Given the description of an element on the screen output the (x, y) to click on. 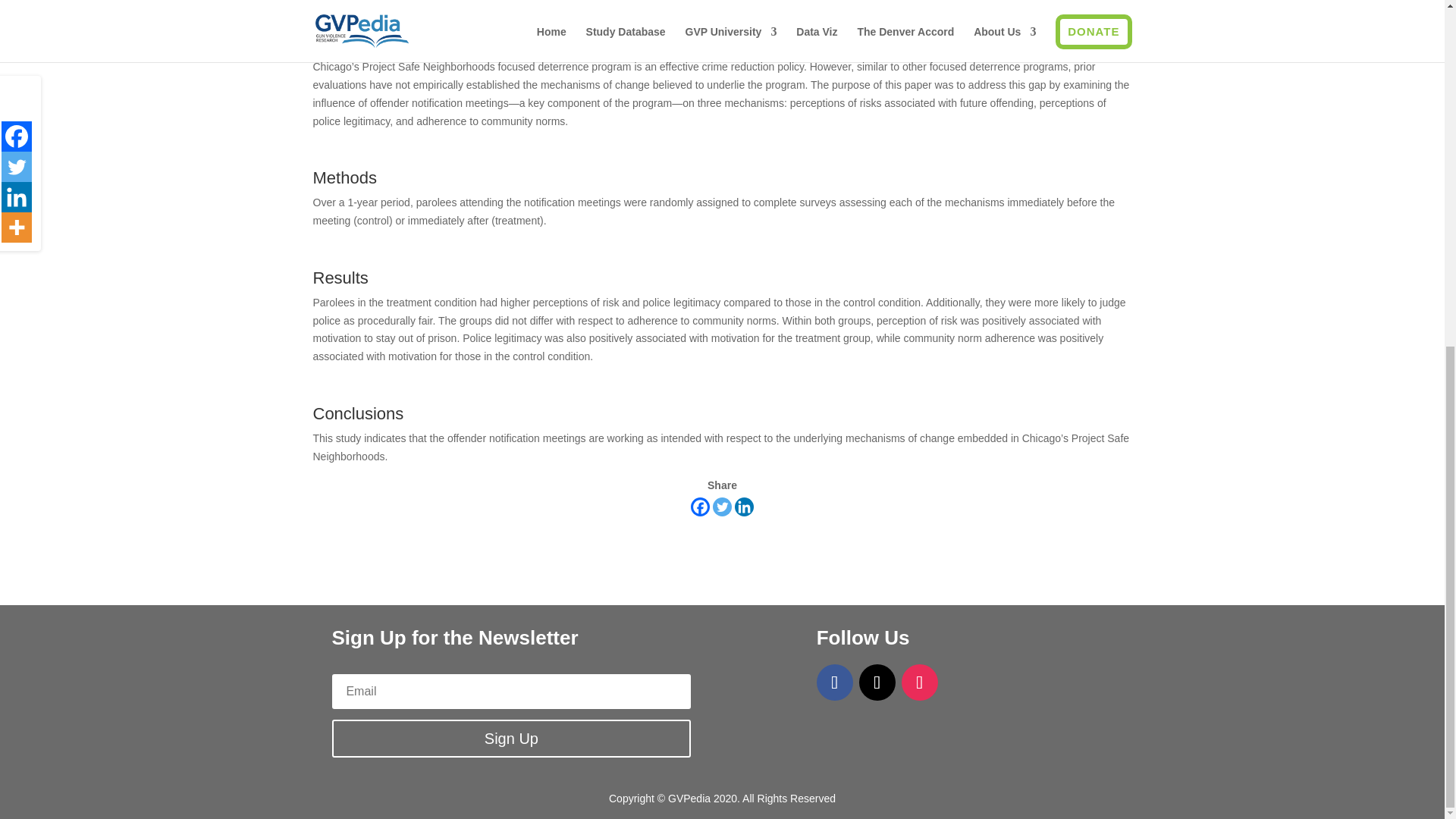
Sign Up (511, 738)
Follow on Instagram (919, 682)
Follow on Twitter (877, 682)
Facebook (700, 506)
Linkedin (744, 506)
Twitter (722, 506)
Follow on Facebook (834, 682)
